Given the description of an element on the screen output the (x, y) to click on. 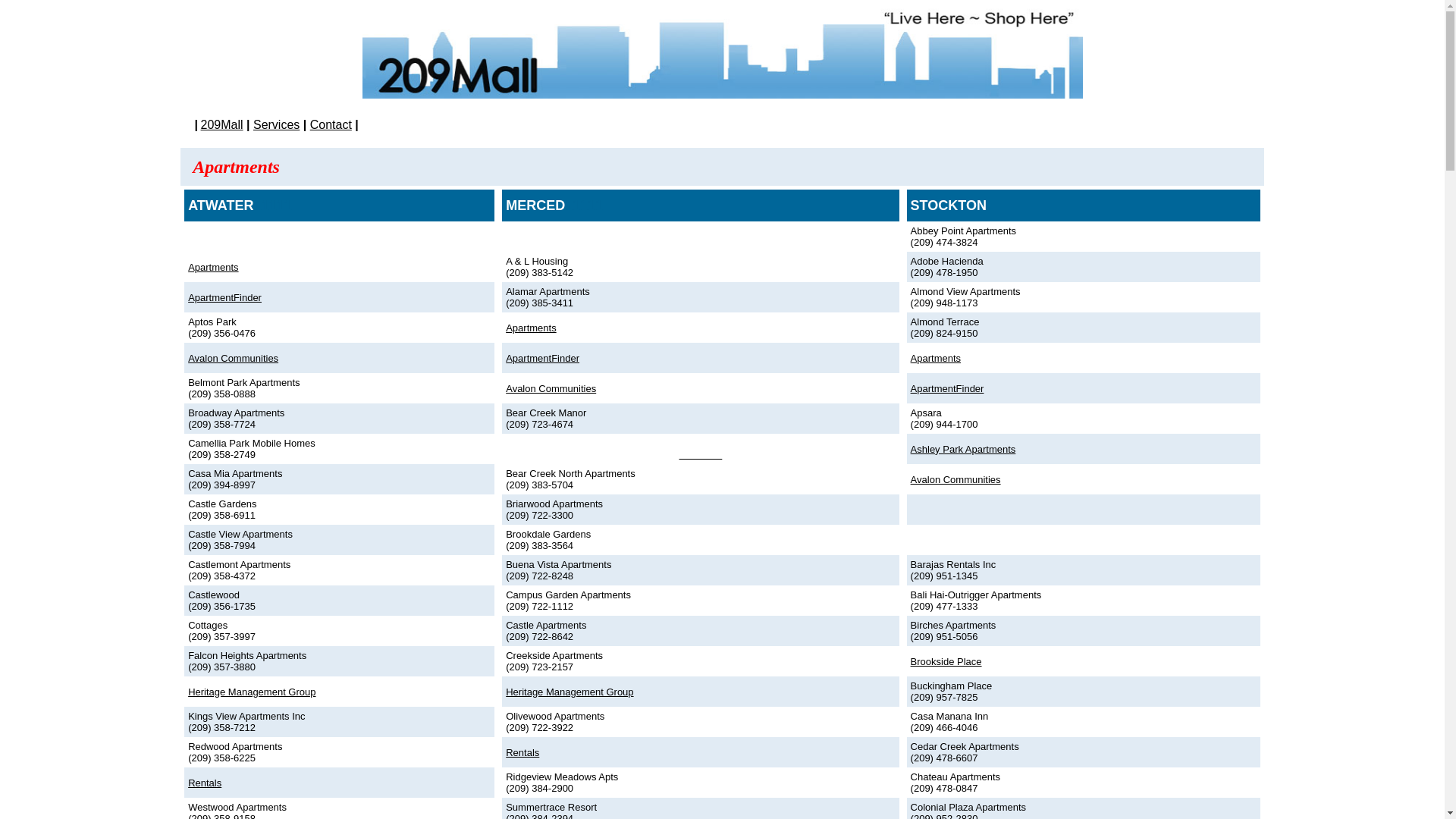
ApartmentFinder Element type: text (542, 356)
Apartments Element type: text (213, 265)
Contact Element type: text (330, 124)
Avalon Communities Element type: text (233, 356)
Websites Element type: text (699, 454)
Avalon Communities Element type: text (550, 386)
Rentals Element type: text (204, 781)
Heritage Management Group Element type: text (251, 690)
ApartmentFinder Element type: text (224, 295)
209Mall Element type: text (221, 124)
Rentals Element type: text (522, 751)
Avalon Communities Element type: text (955, 477)
Apartments Element type: text (935, 356)
Apartments Element type: text (530, 326)
Brookside Place Element type: text (946, 660)
Services Element type: text (276, 124)
ApartmentFinder Element type: text (947, 386)
Heritage Management Group Element type: text (569, 690)
Ashley Park Apartments Element type: text (963, 447)
